Given the description of an element on the screen output the (x, y) to click on. 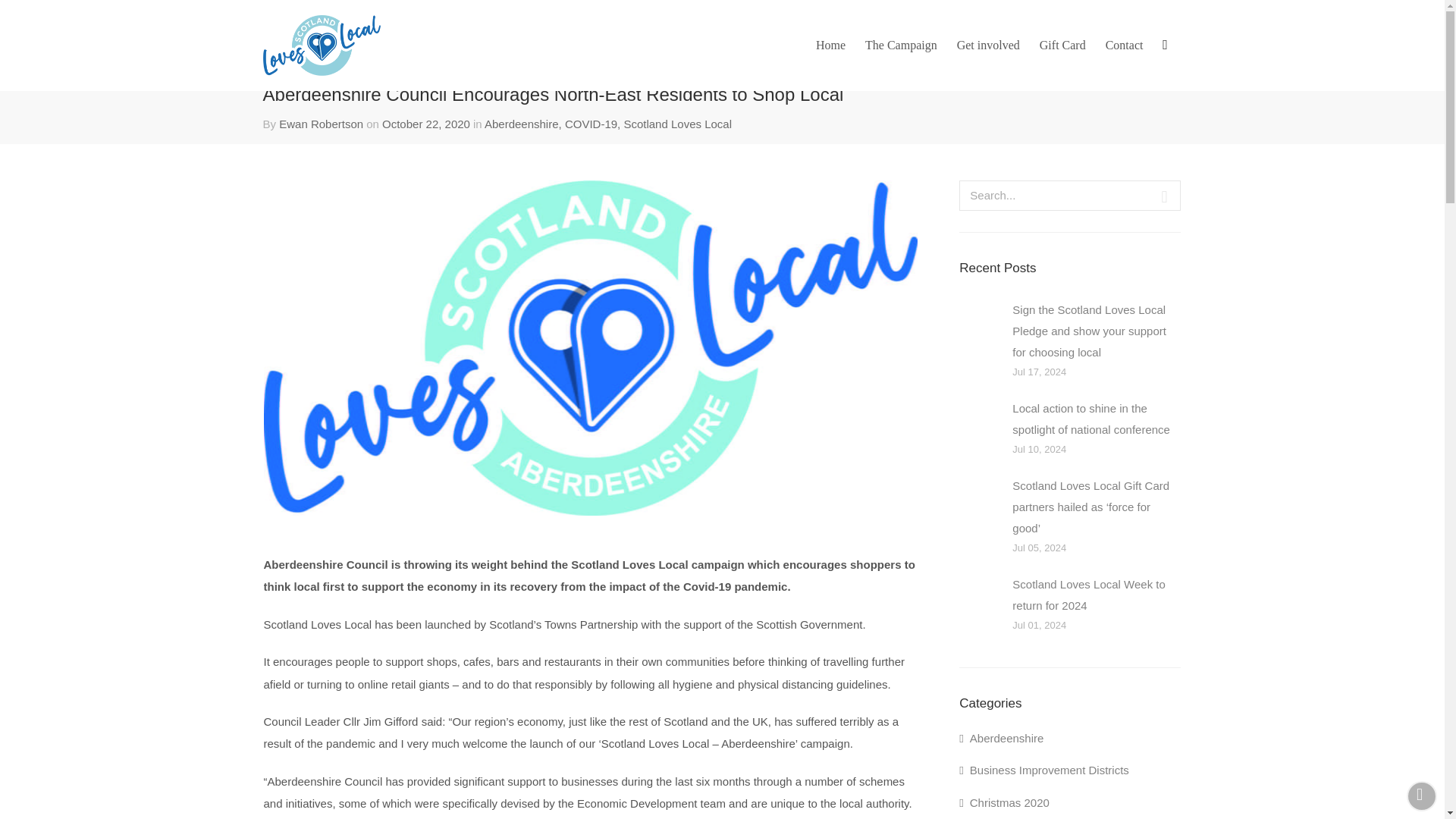
Ewan Robertson (320, 123)
Get involved (988, 45)
COVID-19 (590, 123)
The Campaign (901, 45)
Scotland Loves Local (677, 123)
Aberdeenshire (521, 123)
